Given the description of an element on the screen output the (x, y) to click on. 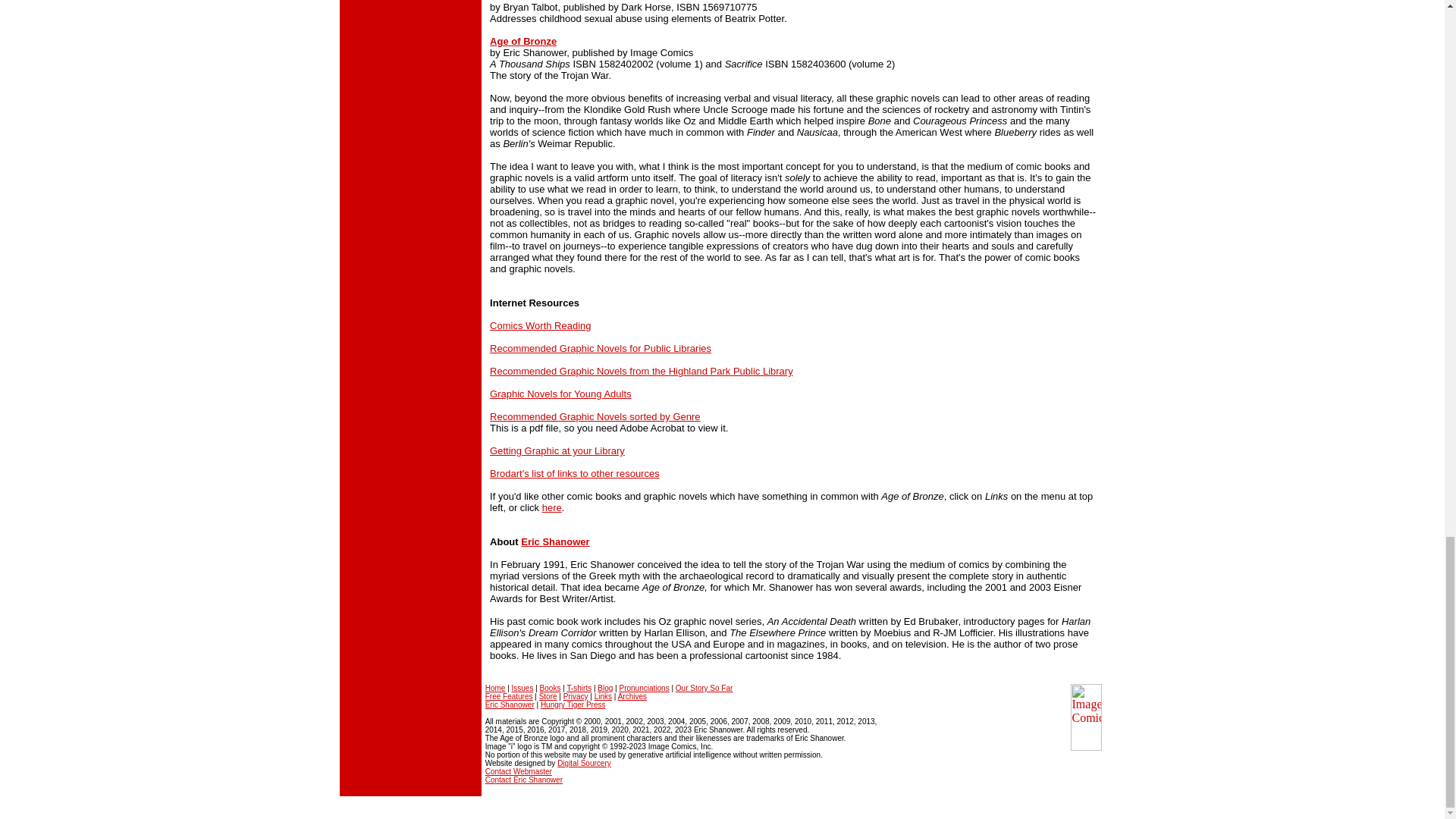
Brodart's list of links to other resources (574, 473)
Recommended Graphic Novels sorted by Genre (594, 416)
Our Story So Far (704, 687)
Graphic Novels for Young Adults (559, 393)
Issues (523, 687)
here (551, 507)
Privacy (575, 696)
Archives (631, 696)
Books (550, 687)
Links (602, 696)
